Given the description of an element on the screen output the (x, y) to click on. 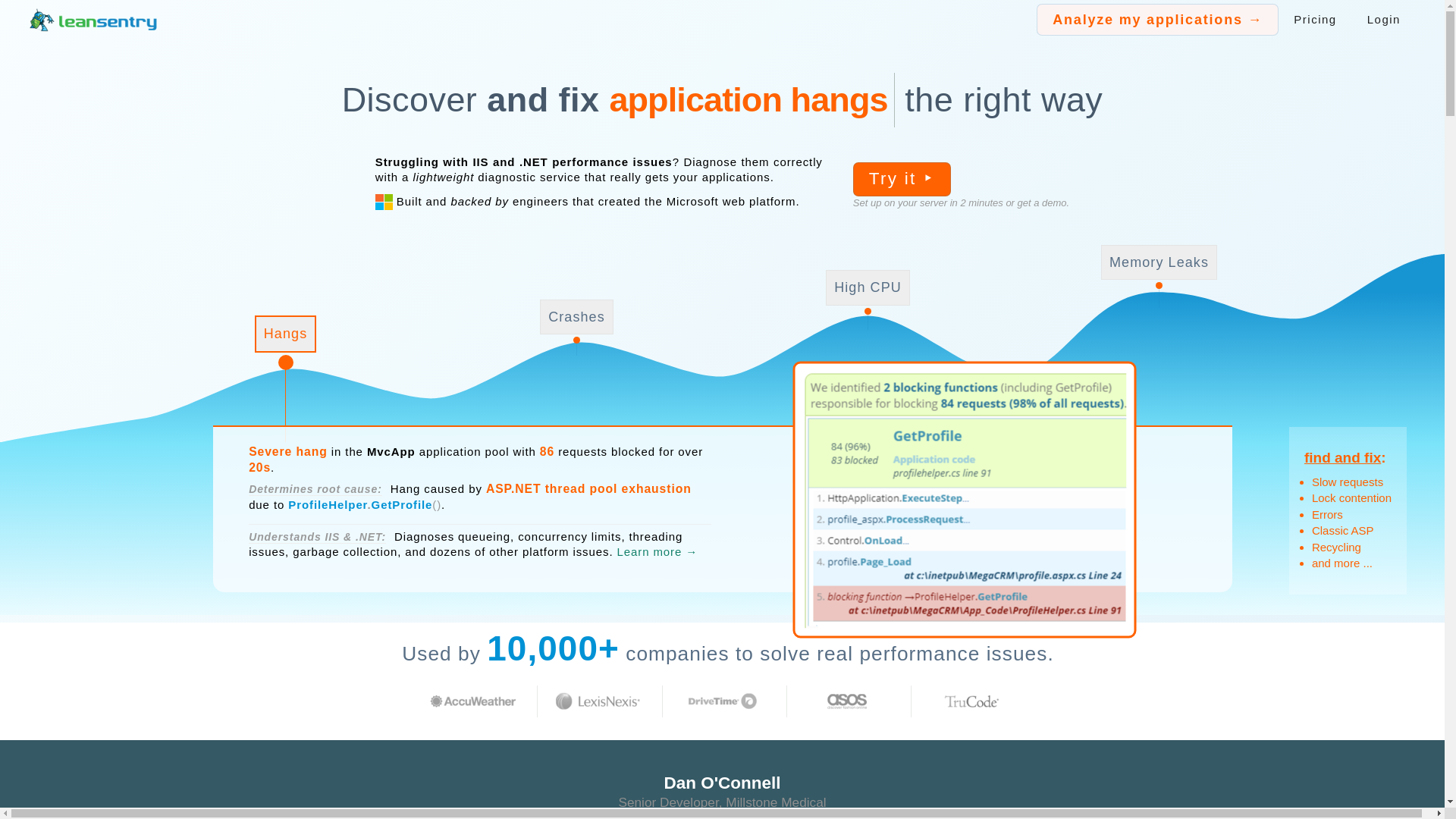
Return to home page (93, 19)
Login (1383, 19)
Pricing (1314, 19)
